Given the description of an element on the screen output the (x, y) to click on. 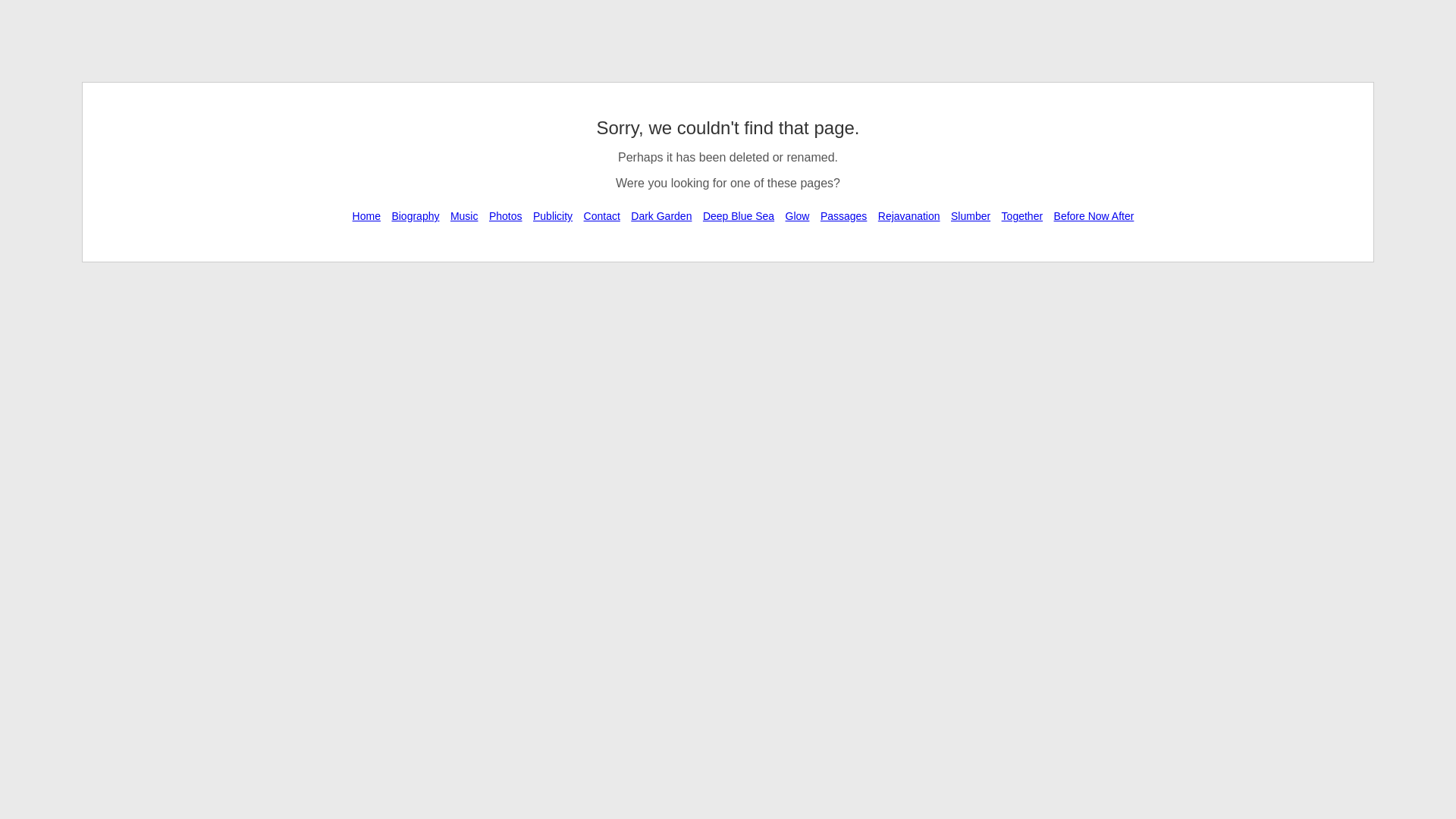
Photos Element type: text (505, 216)
Music Element type: text (464, 216)
Biography Element type: text (414, 216)
Dark Garden Element type: text (661, 216)
Passages Element type: text (843, 216)
Publicity Element type: text (552, 216)
Together Element type: text (1021, 216)
Slumber Element type: text (970, 216)
Glow Element type: text (797, 216)
Home Element type: text (366, 216)
Deep Blue Sea Element type: text (738, 216)
Before Now After Element type: text (1094, 216)
Rejavanation Element type: text (909, 216)
Contact Element type: text (602, 216)
